Given the description of an element on the screen output the (x, y) to click on. 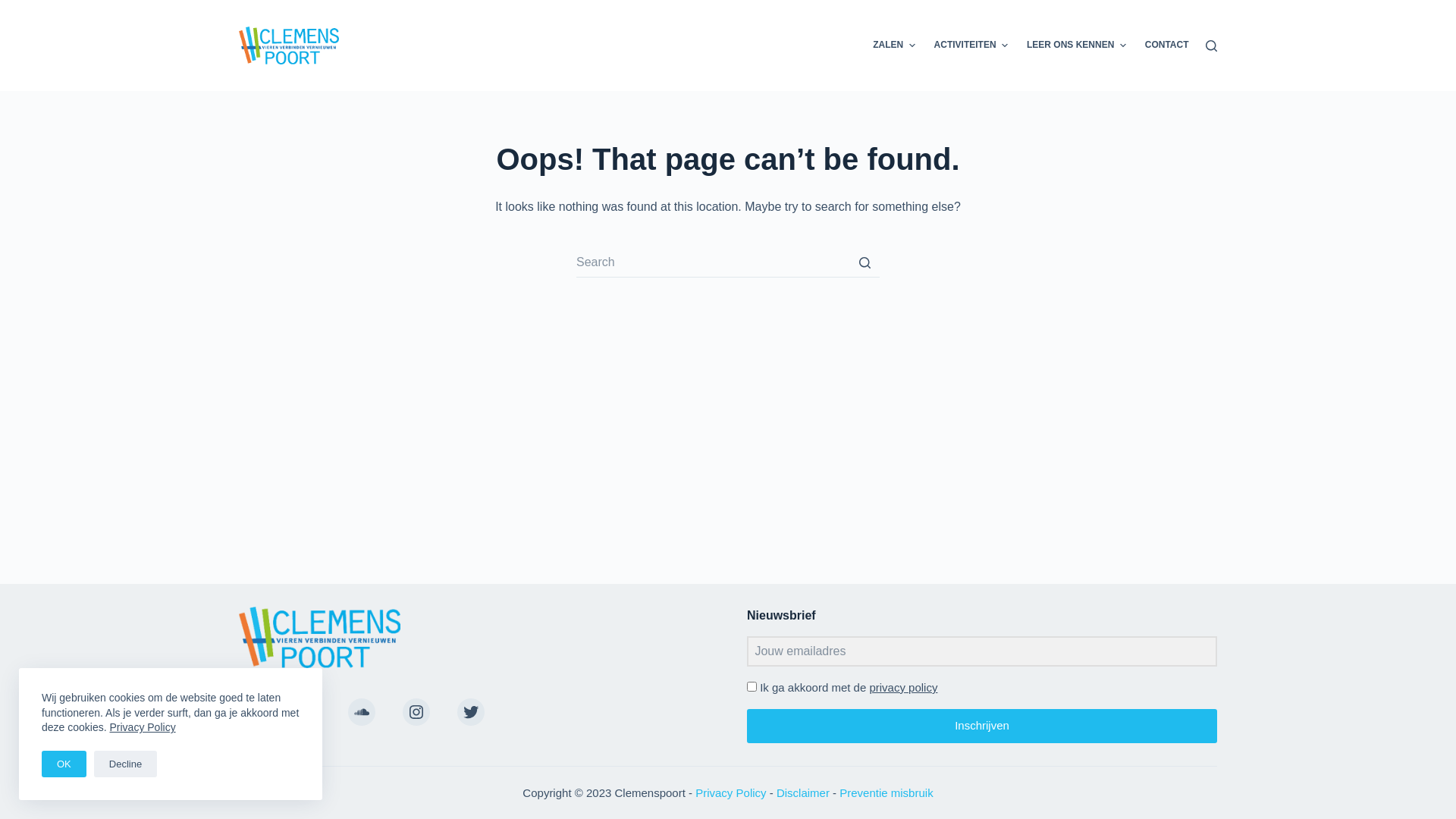
OK Element type: text (63, 763)
Search for... Element type: hover (727, 262)
Preventie misbruik Element type: text (885, 791)
Inschrijven Element type: text (981, 726)
YouTube Element type: text (252, 711)
CONTACT Element type: text (1166, 45)
LEER ONS KENNEN Element type: text (1075, 45)
Decline Element type: text (125, 763)
Soundcloud Element type: text (361, 711)
Skip to content Element type: text (15, 7)
Twitter Element type: text (470, 711)
Disclaimer Element type: text (802, 791)
Instagram Element type: text (415, 711)
Privacy Policy Element type: text (142, 727)
ACTIVITEITEN Element type: text (970, 45)
Facebook Element type: text (306, 711)
Privacy Policy Element type: text (730, 791)
ZALEN Element type: text (893, 45)
privacy policy Element type: text (903, 686)
